Given the description of an element on the screen output the (x, y) to click on. 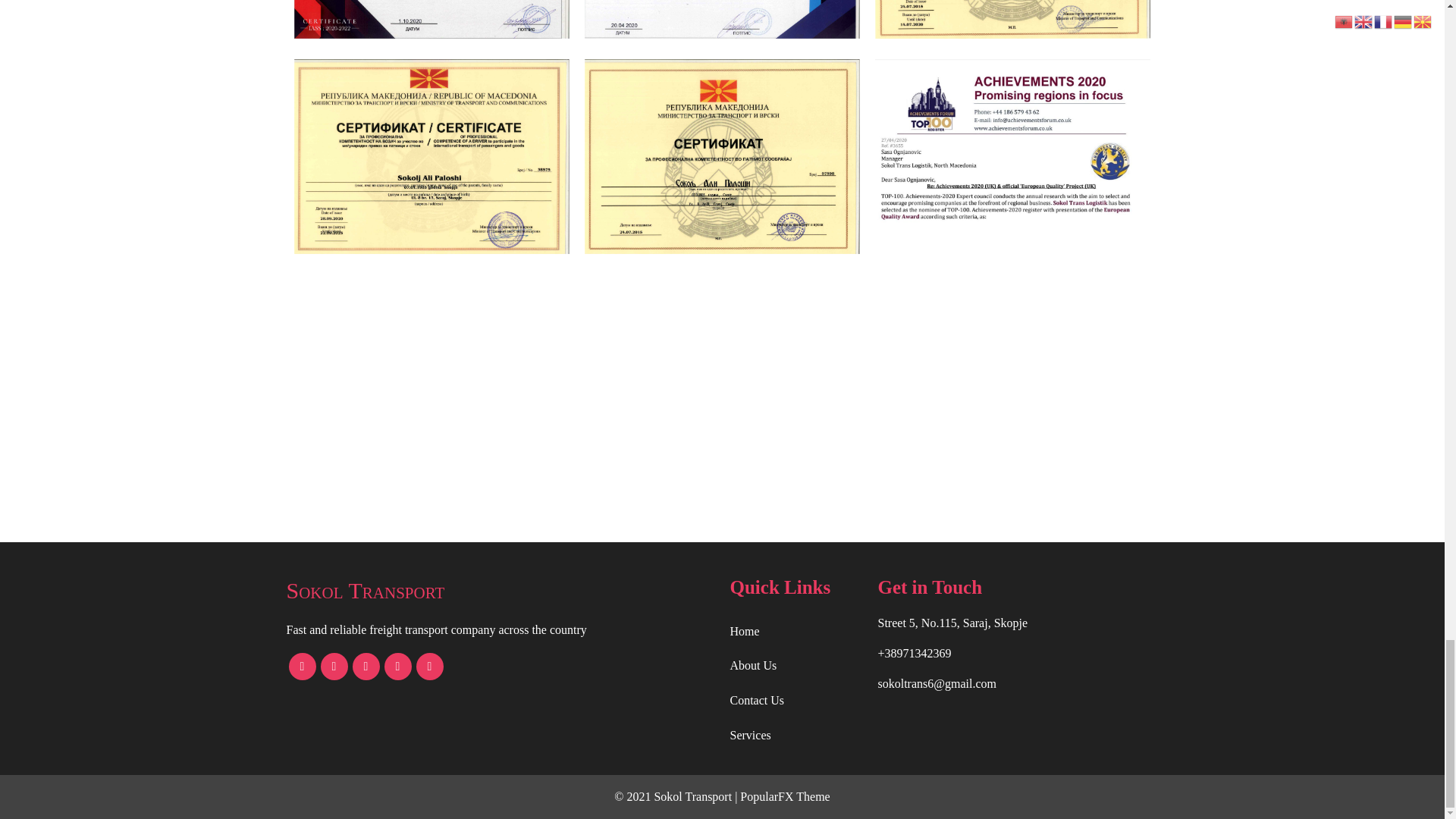
Certificat 3 (1012, 19)
Certificat 8 (722, 19)
Certificat 7 (431, 19)
Certificat 4 (431, 155)
PopularFX Theme (784, 796)
Sokol Transport (500, 590)
Certificat 6 (722, 155)
